Given the description of an element on the screen output the (x, y) to click on. 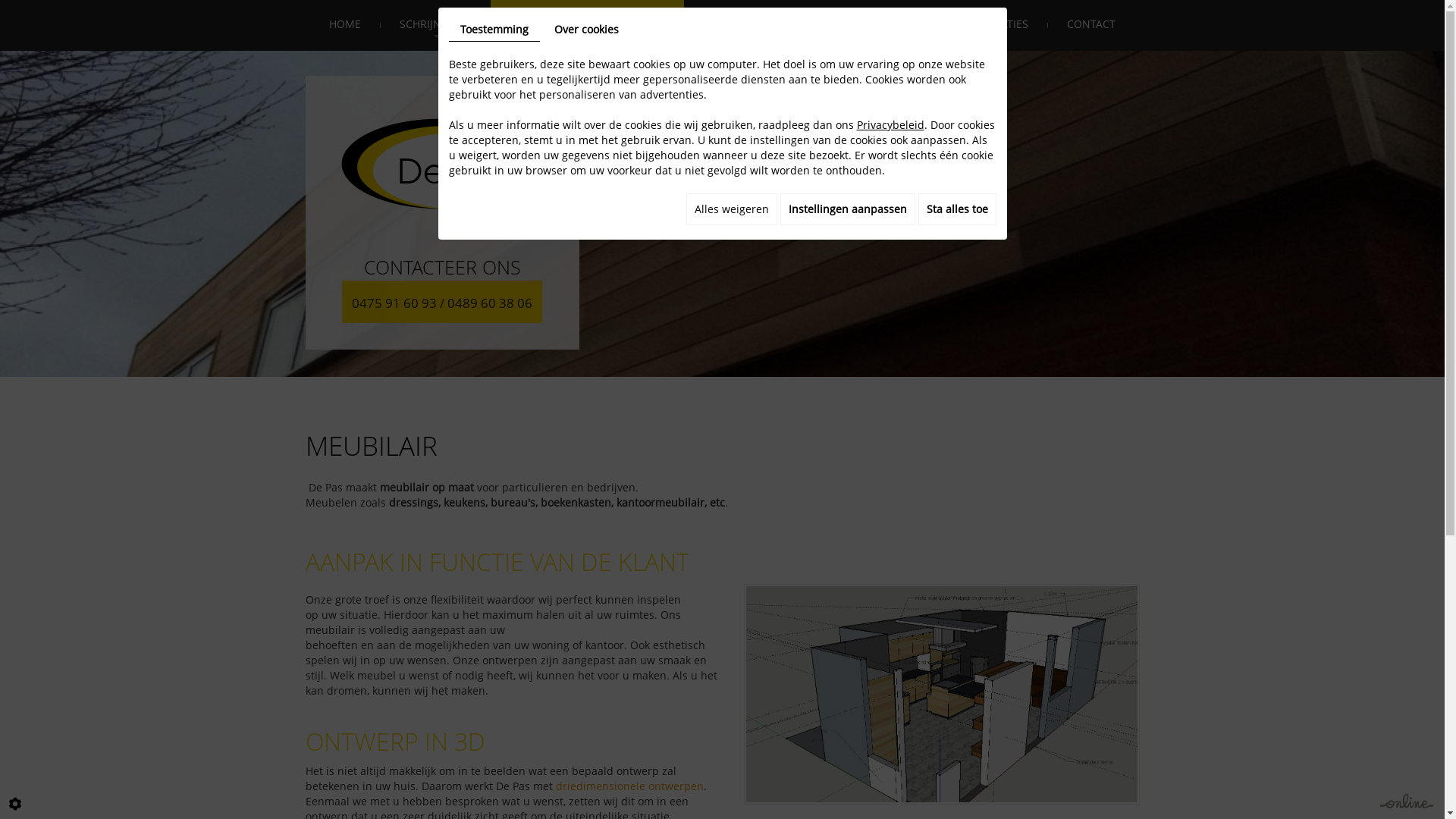
Sta alles toe Element type: text (956, 209)
GYPROCWERKEN Element type: text (746, 25)
Alles weigeren Element type: text (730, 209)
Instellingen aanpassen Element type: text (846, 209)
driedimensionele ontwerpen Element type: text (628, 785)
TOTALE INTERIEURAFWERKING Element type: text (587, 25)
Cookie-instelling bewerken Element type: text (14, 803)
Toestemming Element type: text (493, 29)
SCHRIJNWERK Element type: text (434, 25)
HOME Element type: text (344, 25)
CONTACT Element type: text (1091, 25)
Over cookies Element type: text (586, 29)
REALISATIES Element type: text (997, 25)
Privacybeleid Element type: text (890, 124)
0475 91 60 93 / 0489 60 38 06 Element type: text (442, 301)
SYSTEEMPLAFONDS Element type: text (878, 25)
